Given the description of an element on the screen output the (x, y) to click on. 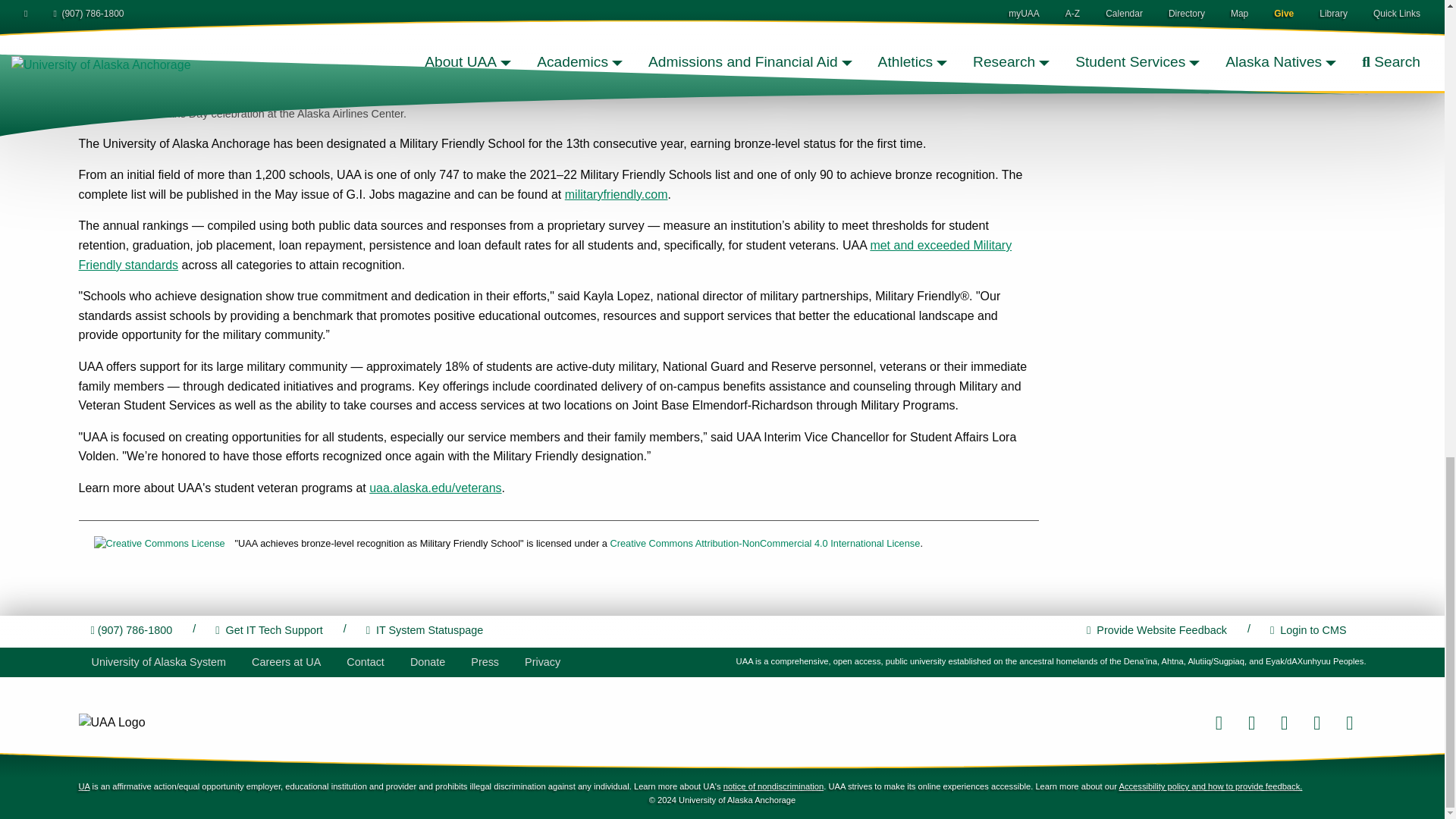
UAA YouTube (1349, 722)
UAA Instagram (1284, 722)
UAA LinkedIn (1316, 722)
UAA Facebook (1218, 722)
UAA Twitter (1251, 722)
